Given the description of an element on the screen output the (x, y) to click on. 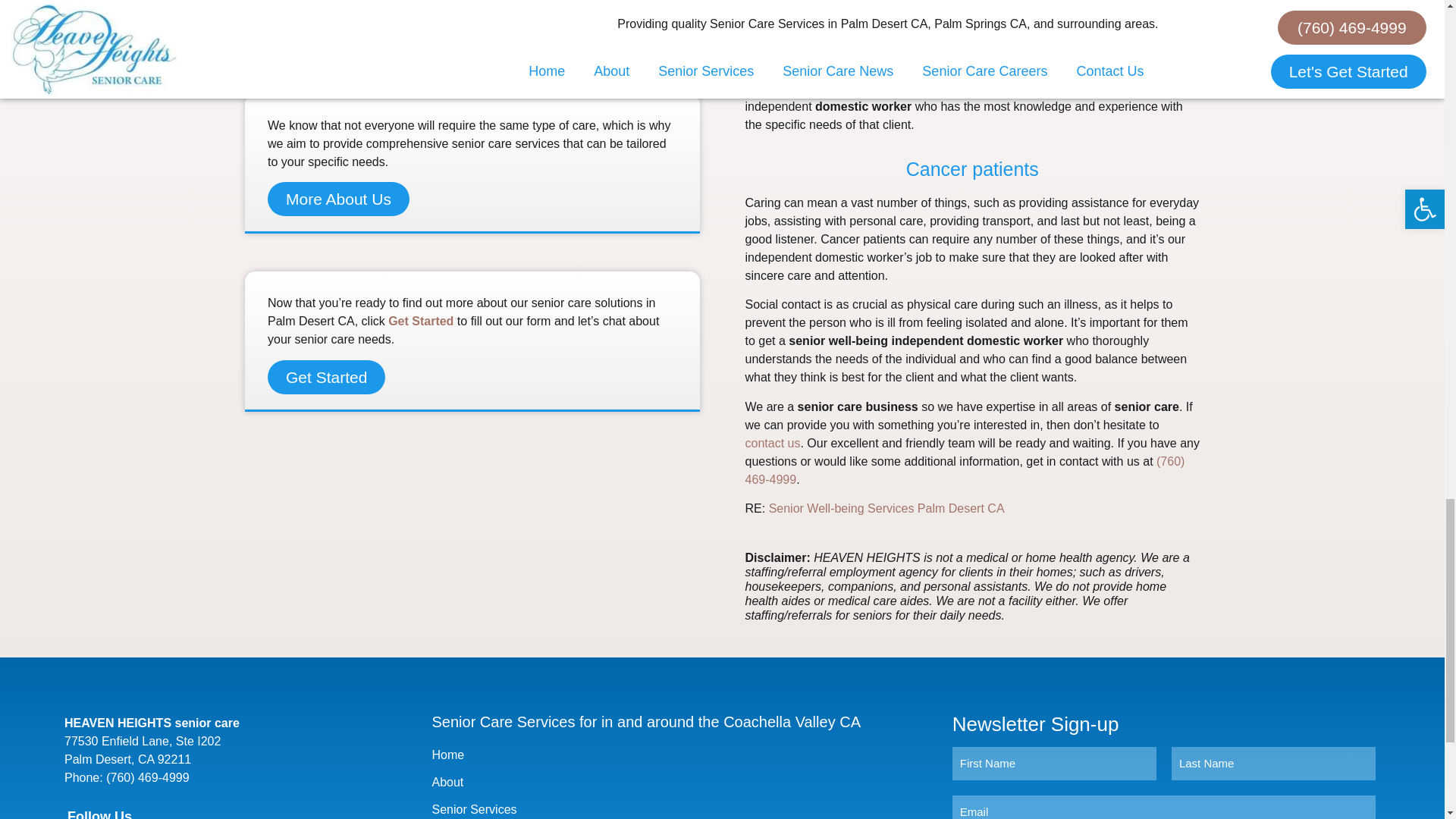
Home Health Care Services Carlsbad CA (886, 508)
